Given the description of an element on the screen output the (x, y) to click on. 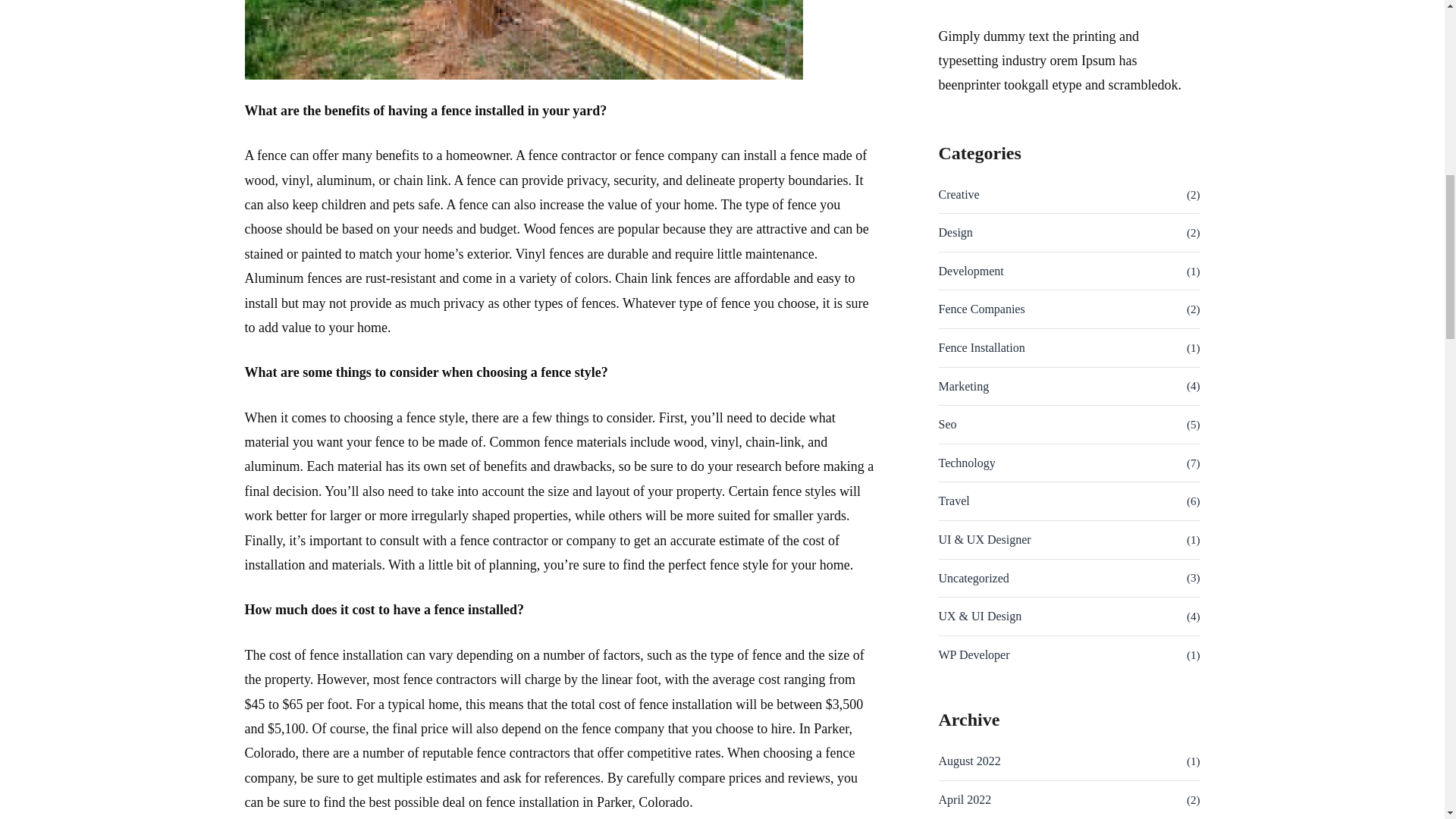
Travel (954, 501)
Wood fences (558, 228)
Marketing (964, 386)
Seo (947, 424)
Technology (967, 463)
Parker, Colorado (642, 801)
chain-link (772, 441)
Creative (959, 194)
Uncategorized (974, 578)
Fence Installation (982, 347)
